Given the description of an element on the screen output the (x, y) to click on. 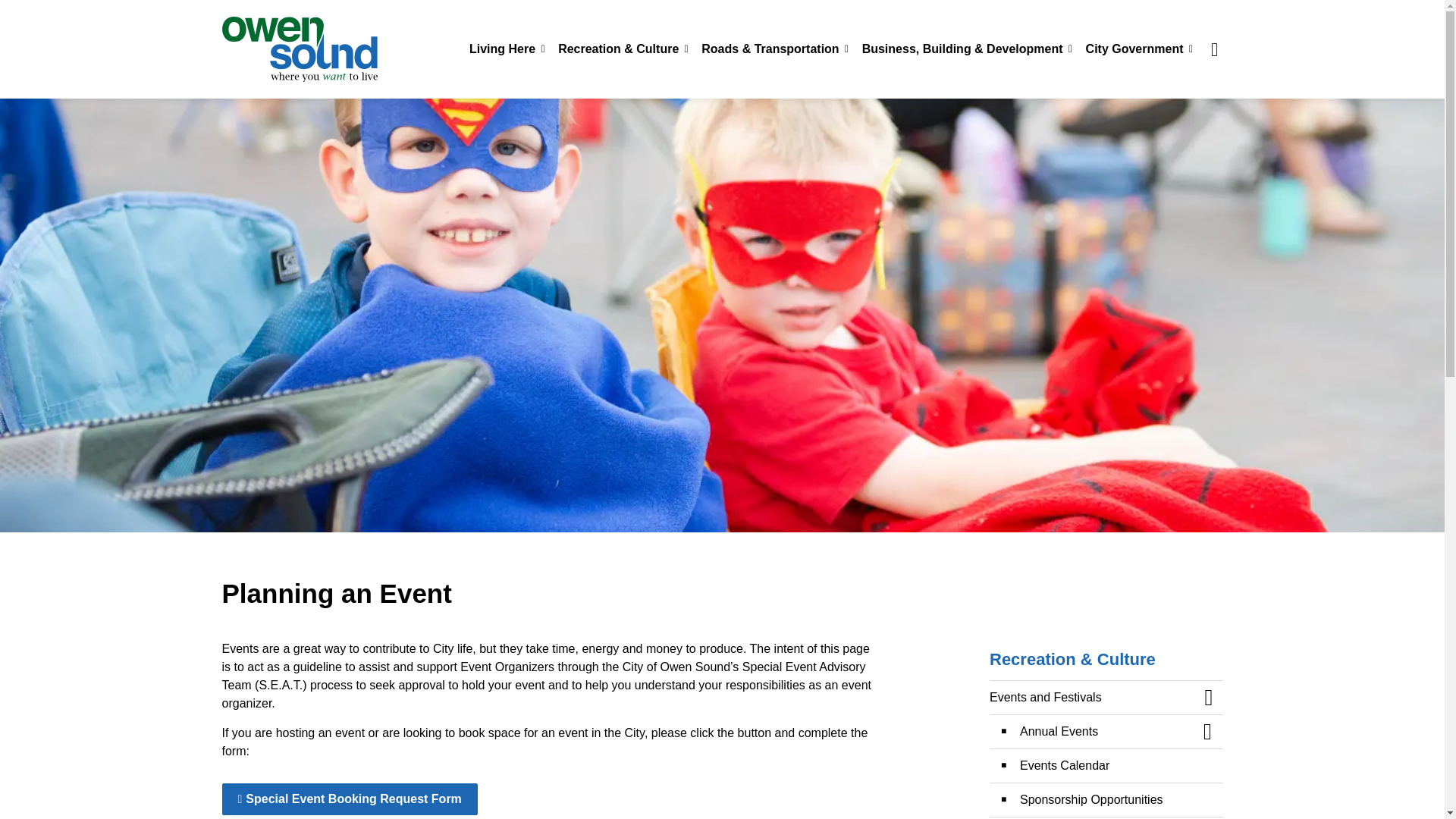
Living Here (505, 49)
City of Owen Sound (299, 48)
